Given the description of an element on the screen output the (x, y) to click on. 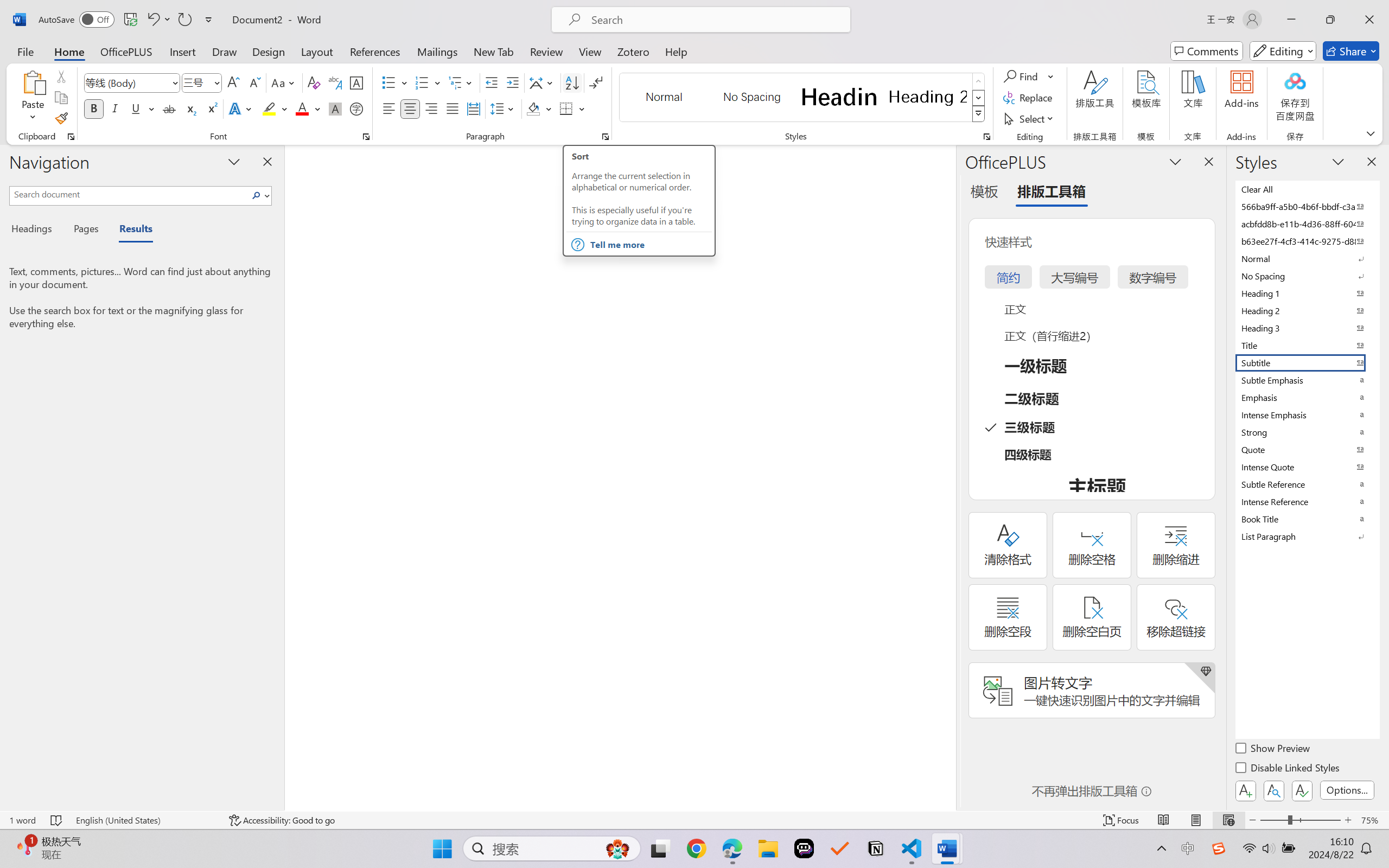
Hide Panel (1376, 639)
auto.py (262, 31)
Next Match (Enter) (1272, 65)
Tab actions (351, 31)
Previous Match (Shift+Enter) (1259, 65)
Ln 315, Col 64 (1178, 836)
Find in Selection (Alt+L) (1285, 65)
remote (9, 836)
Output (Ctrl+Shift+U) (229, 640)
Close (Escape) (1299, 65)
Source Control (Ctrl+Shift+G) (13, 92)
Run (147, 10)
Run Python File (1340, 31)
